Given the description of an element on the screen output the (x, y) to click on. 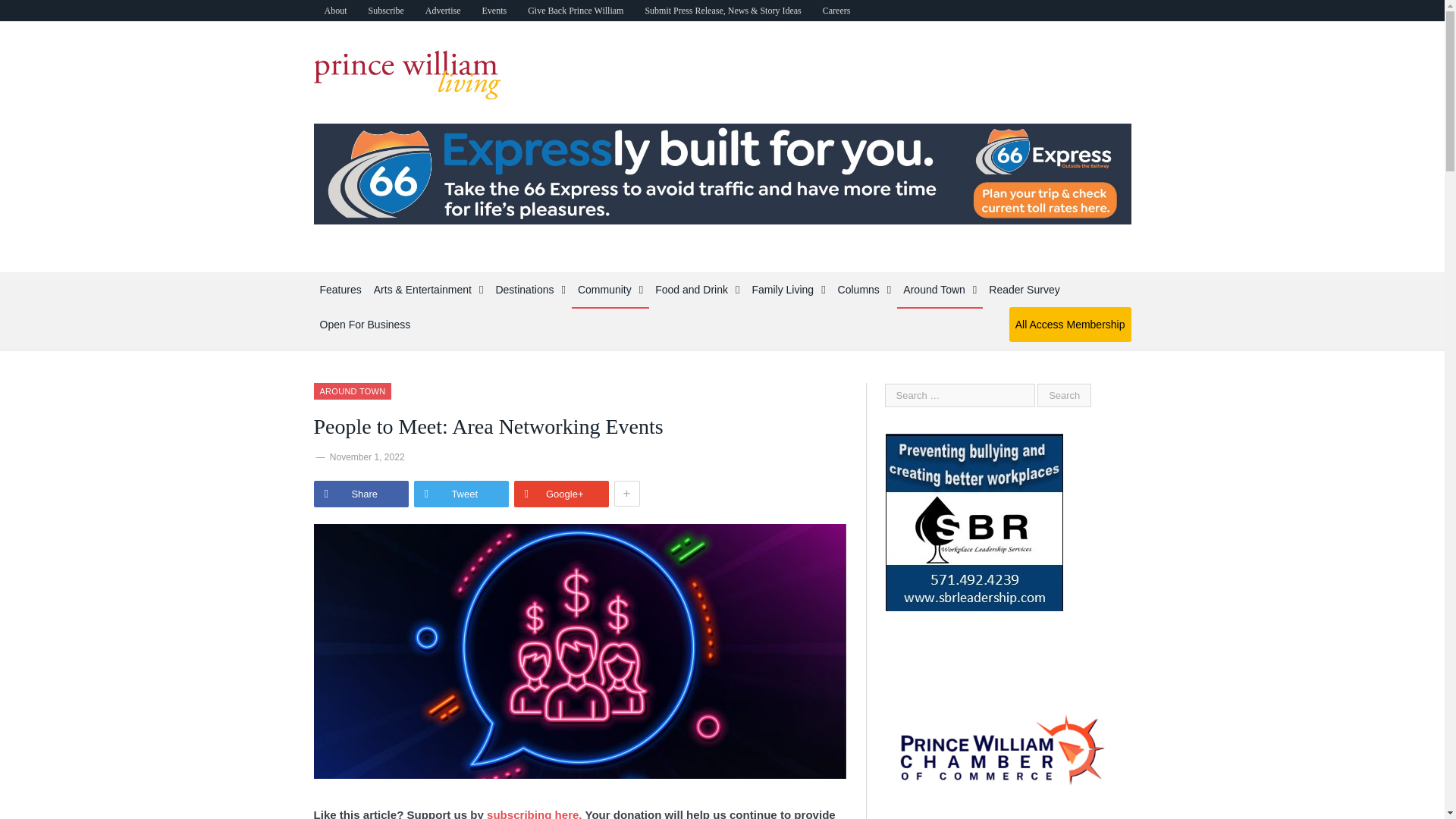
Search (1063, 395)
Subscribe (386, 10)
Around Town (352, 390)
Advertise (443, 10)
Events (493, 10)
Careers (836, 10)
Search (1063, 395)
Local Prince William Events (493, 10)
About (335, 10)
Prince William Living (407, 71)
Give Back Prince William (574, 10)
